Given the description of an element on the screen output the (x, y) to click on. 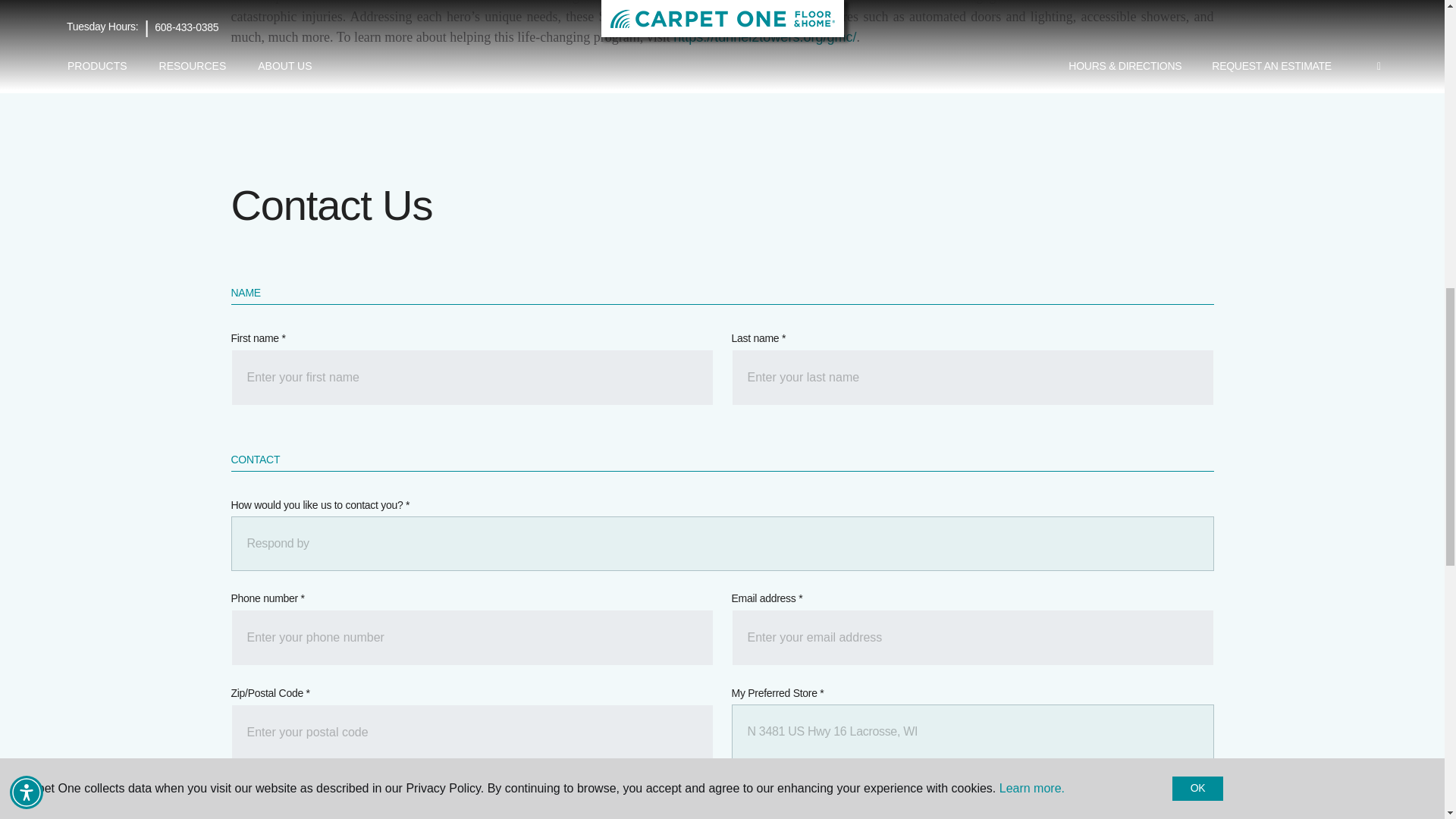
FirstName (471, 377)
LastName (971, 377)
EmailAddress (971, 637)
CleanHomePhone (471, 637)
PostalCode (471, 732)
MyMessage (721, 809)
